Given the description of an element on the screen output the (x, y) to click on. 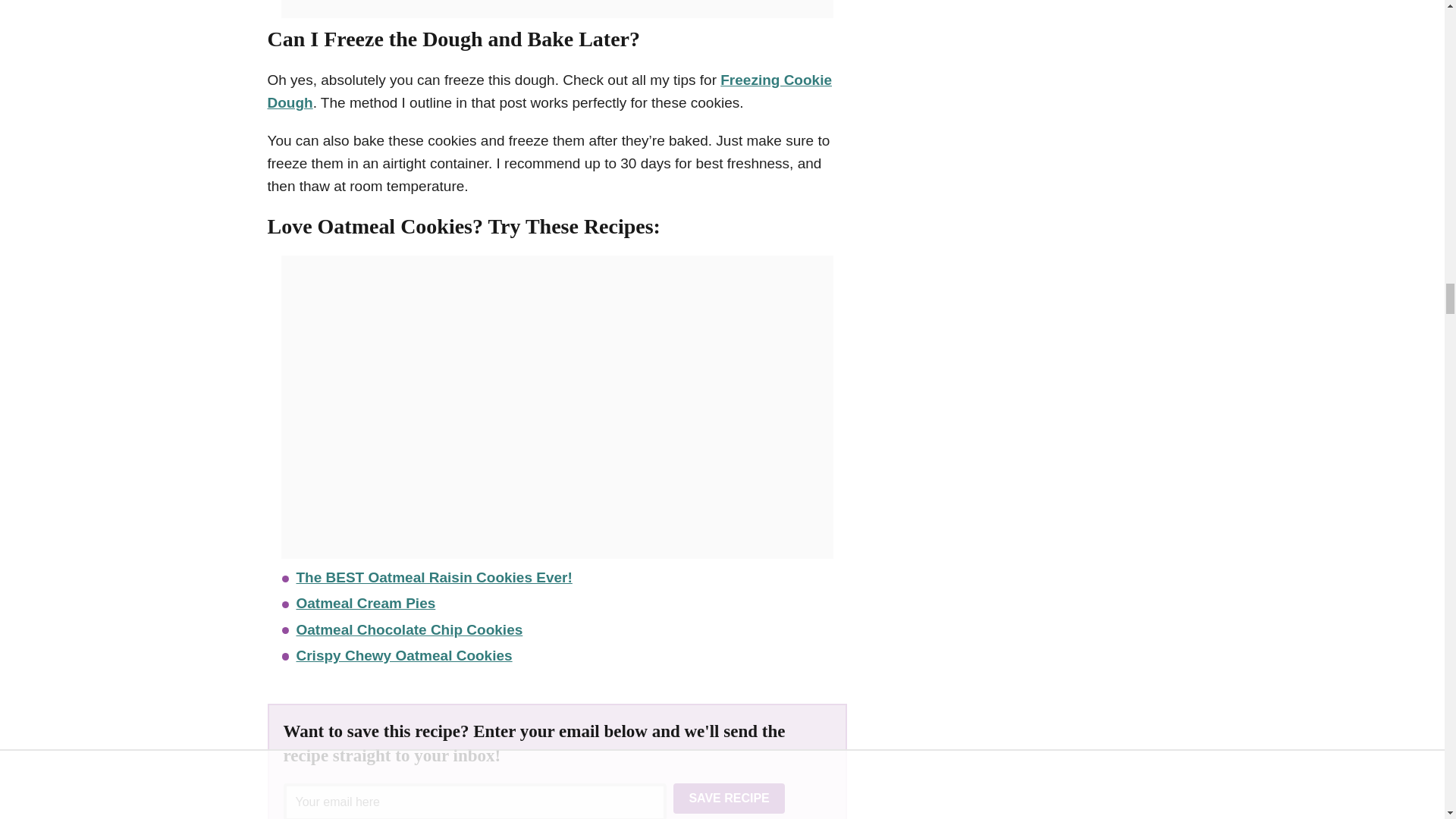
Save Recipe (728, 798)
